Given the description of an element on the screen output the (x, y) to click on. 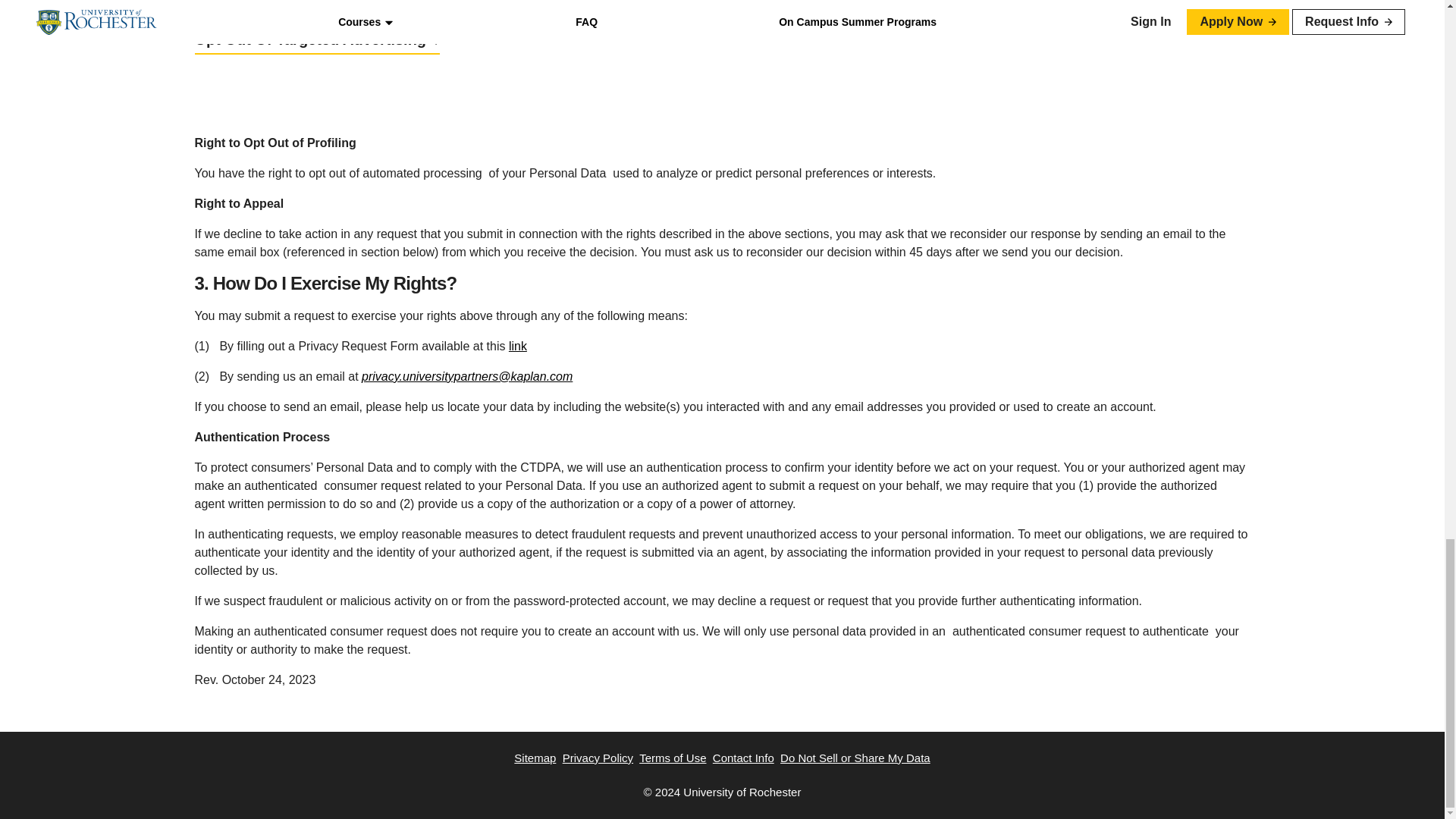
Opt Out Of Targeted Advertising (316, 39)
Contact Info (743, 757)
Do Not Sell or Share My Data (855, 757)
Sitemap (534, 757)
link (517, 345)
Terms of Use (672, 757)
Privacy Policy (597, 757)
